Given the description of an element on the screen output the (x, y) to click on. 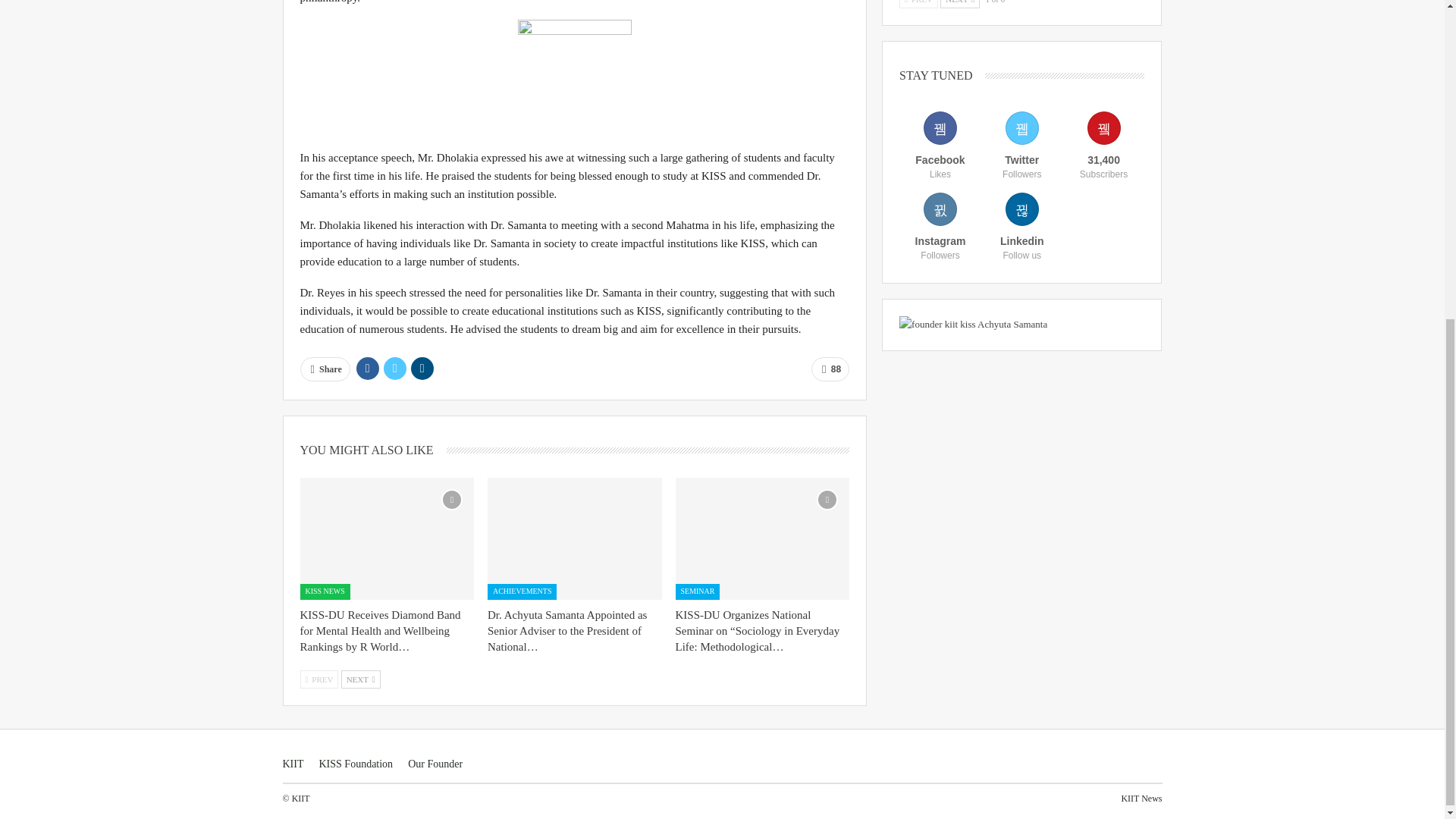
KISS NEWS (324, 591)
ACHIEVEMENTS (521, 591)
Previous (319, 679)
Next (360, 679)
SEMINAR (697, 591)
